Given the description of an element on the screen output the (x, y) to click on. 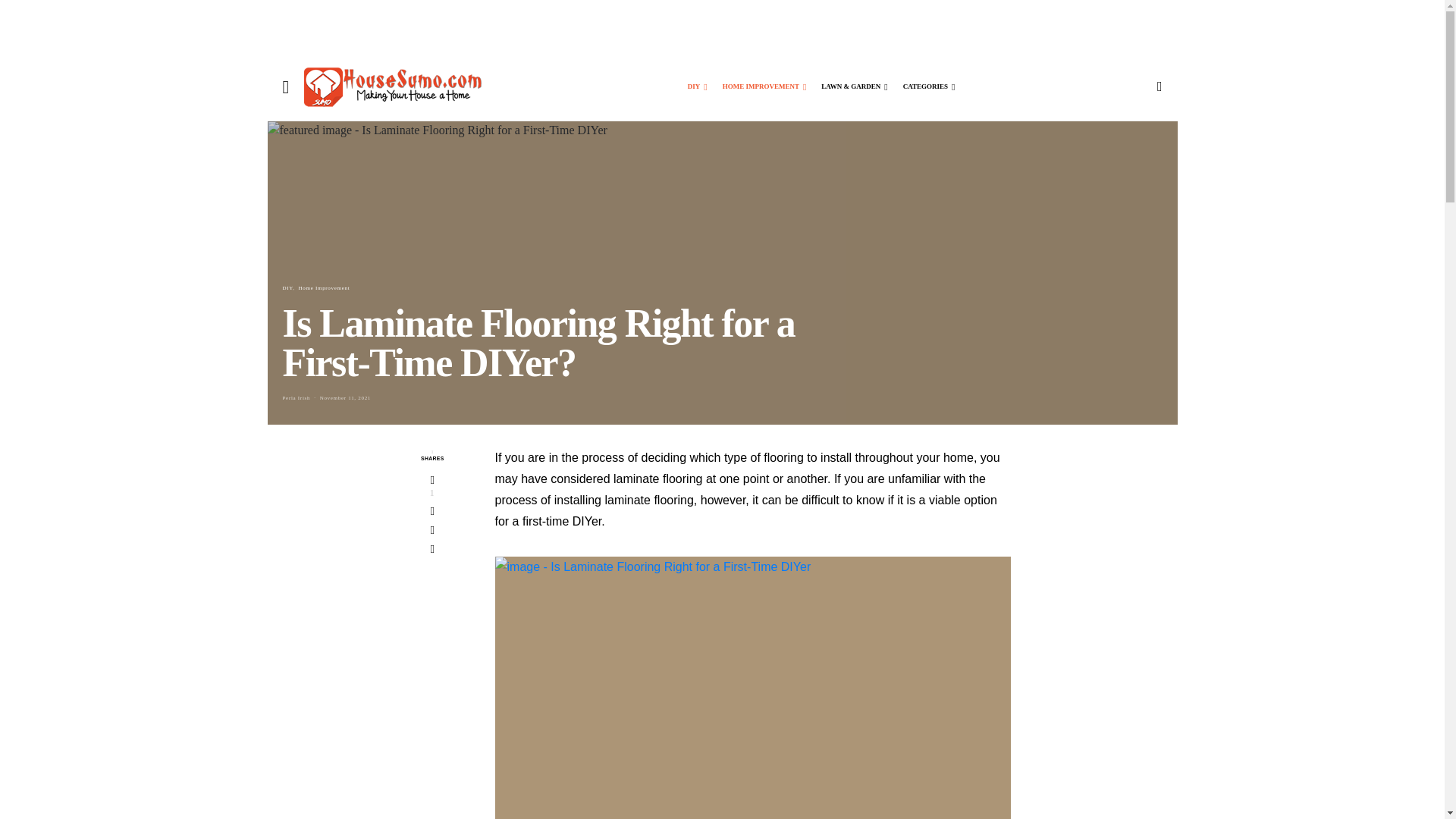
View all posts by Perla Irish (296, 396)
